Given the description of an element on the screen output the (x, y) to click on. 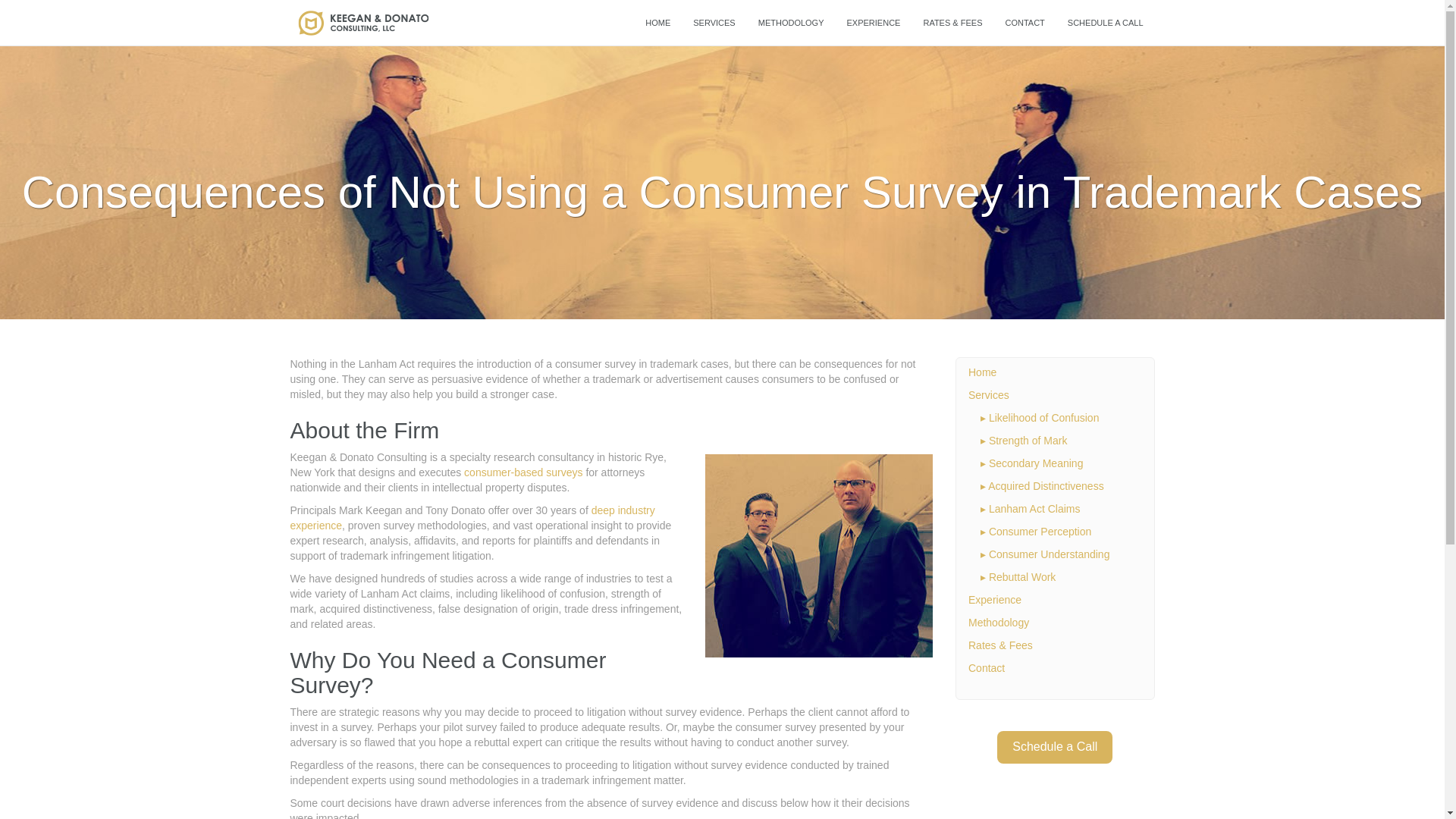
SCHEDULE A CALL (1105, 22)
deep industry experience (471, 517)
CONTACT (1023, 22)
Strength of Mark (1027, 440)
Schedule a Call (1054, 747)
Contact (986, 667)
Home (981, 372)
Experience (995, 599)
Consumer Perception (1039, 531)
Home (657, 22)
Contact (1023, 22)
Lanham Act Claims (1034, 508)
Acquired Distinctiveness (1045, 485)
Services (713, 22)
